Given the description of an element on the screen output the (x, y) to click on. 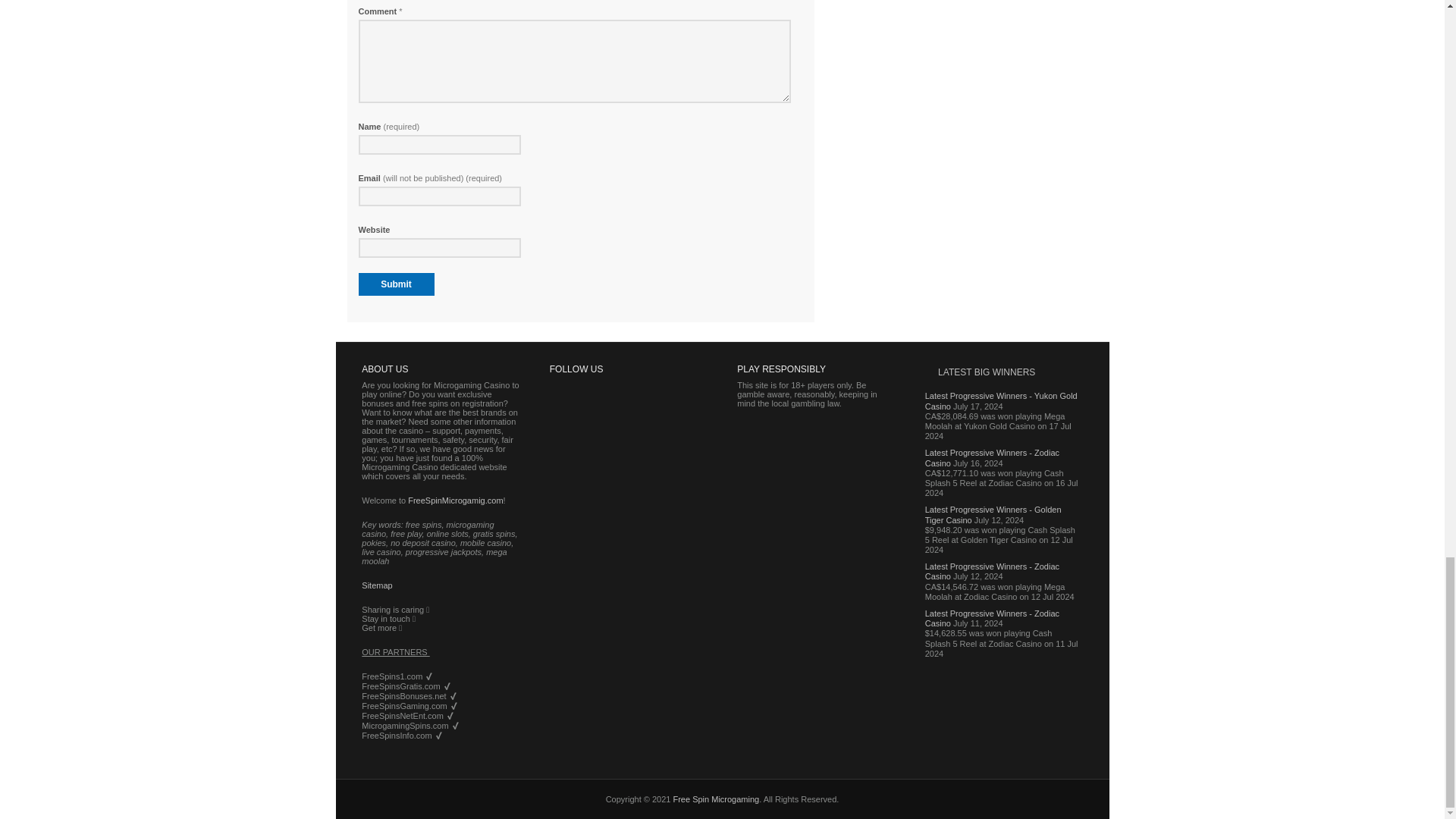
Submit (395, 283)
Follow us on Facebook (569, 420)
FreeSpinMicrogaming.com (454, 500)
FreeSpinMicrogaming.com sitemap (376, 584)
Submit (395, 283)
Follow us on Pinterest (648, 420)
Follow us on Twitter (609, 420)
Follow us on Instagram (569, 461)
